Given the description of an element on the screen output the (x, y) to click on. 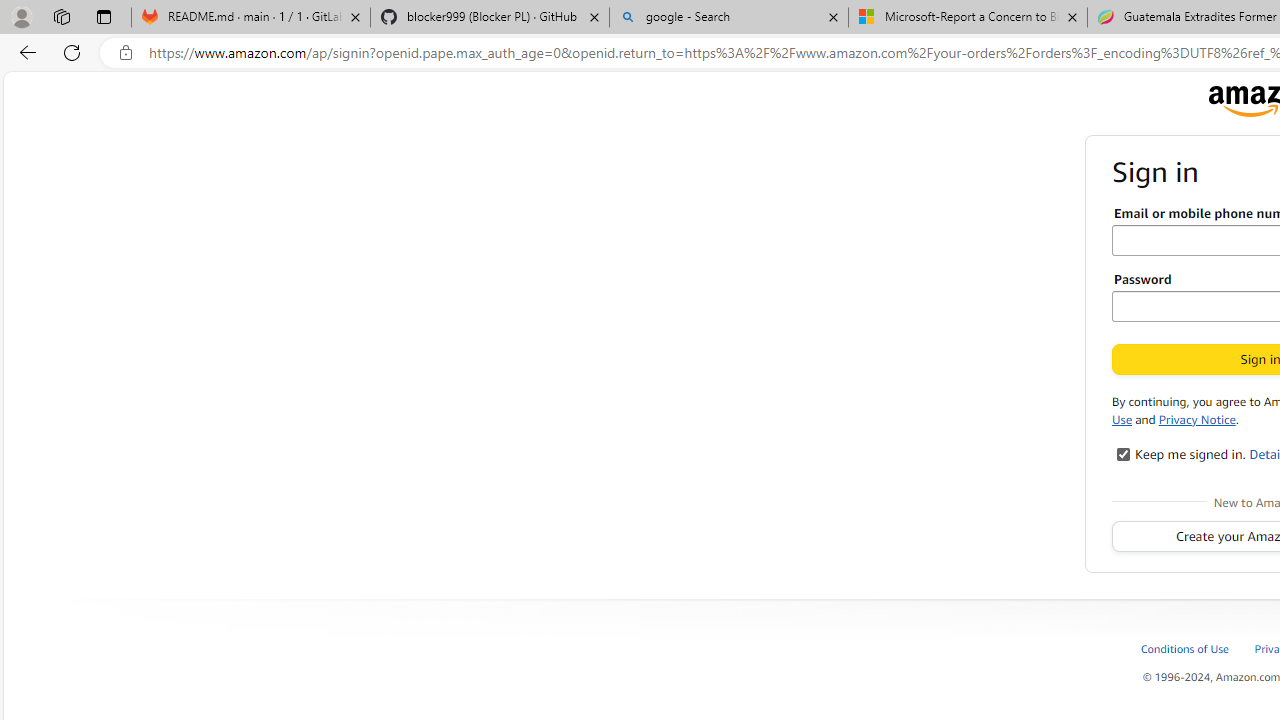
Privacy Notice (1197, 418)
Keep me signed in. Details (1123, 453)
Conditions of Use  (1195, 648)
Conditions of Use  (1185, 647)
